Given the description of an element on the screen output the (x, y) to click on. 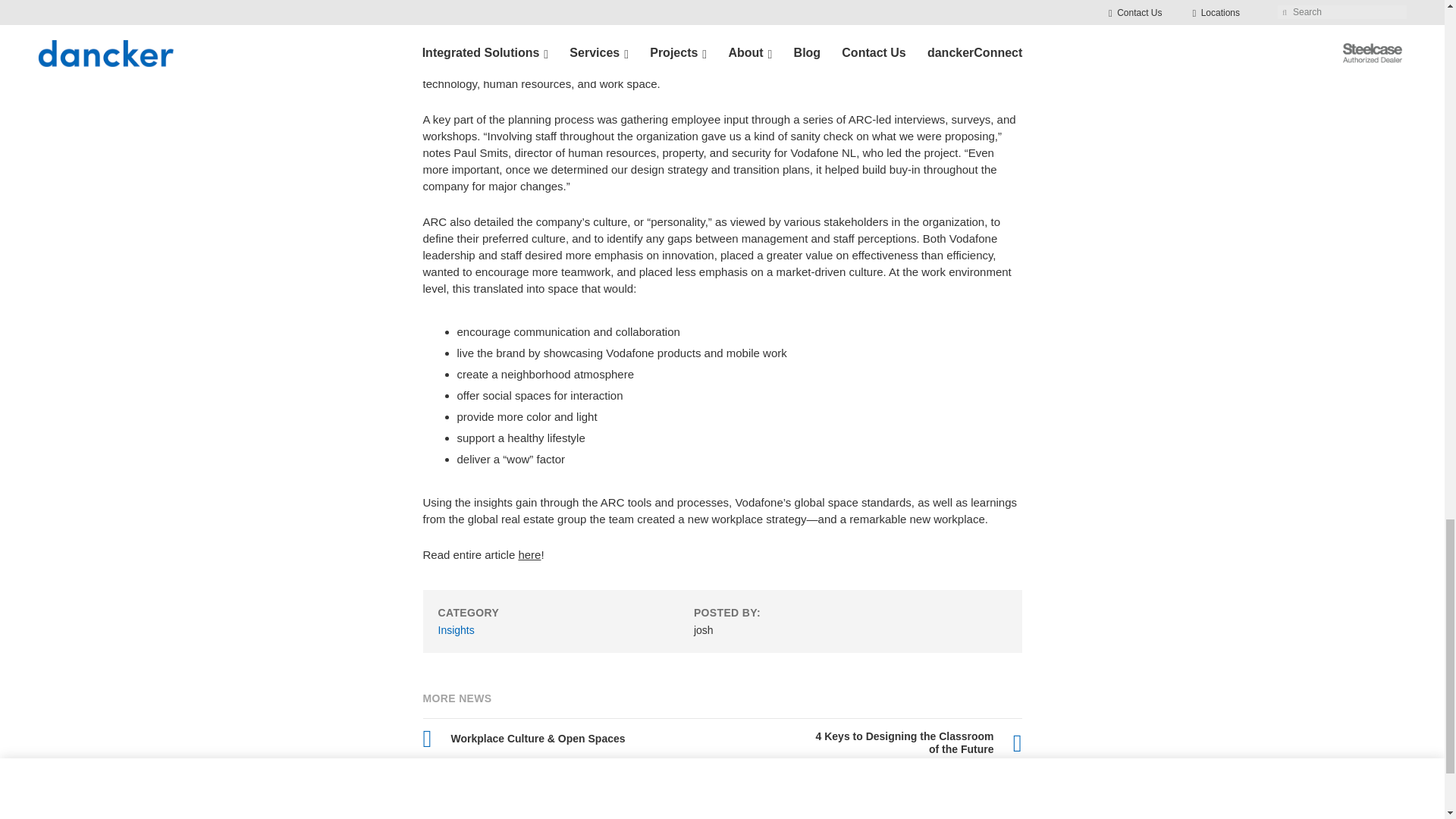
Contact Us (184, 816)
Privacy Policy (872, 818)
here (529, 554)
4 Keys to Designing the Classroom of the Future (912, 742)
Insights (456, 630)
